Given the description of an element on the screen output the (x, y) to click on. 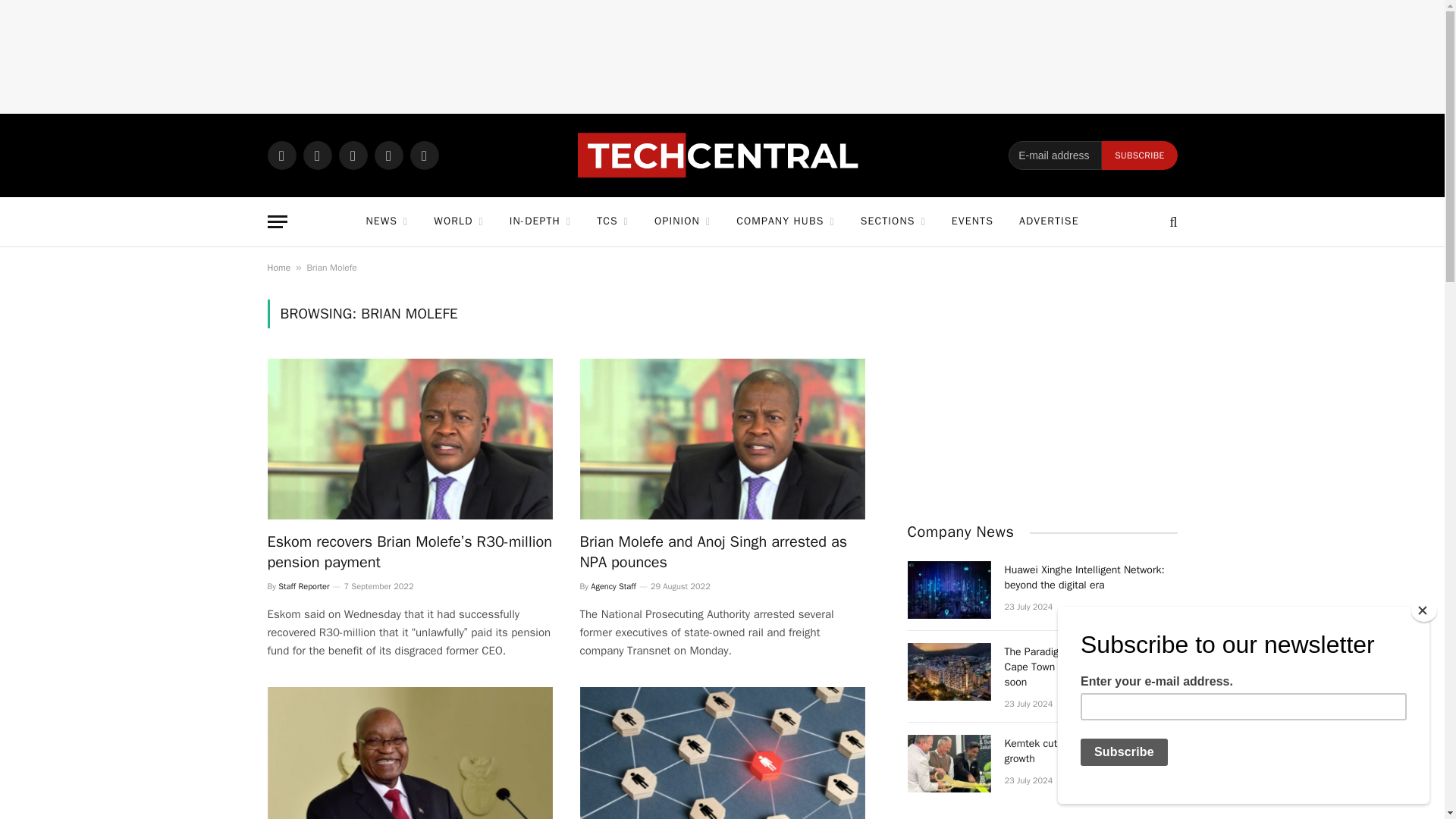
YouTube (423, 154)
Facebook (316, 154)
WhatsApp (280, 154)
3rd party ad content (721, 56)
IN-DEPTH (539, 221)
Subscribe (1139, 154)
NEWS (386, 221)
LinkedIn (388, 154)
Subscribe (1139, 154)
WORLD (458, 221)
TechCentral (722, 155)
